Given the description of an element on the screen output the (x, y) to click on. 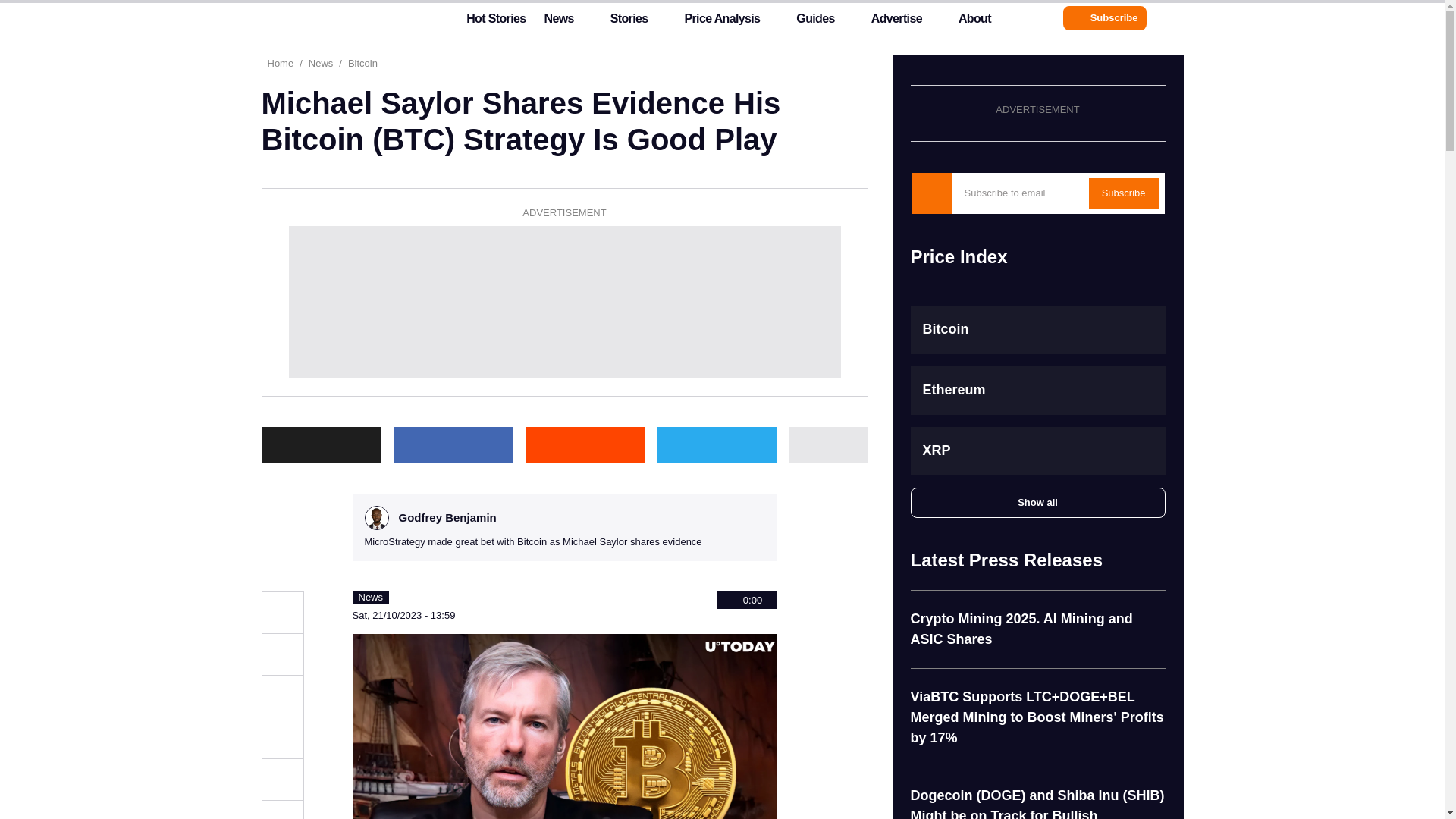
News (558, 22)
Hot Stories (486, 22)
U.Today logo (331, 17)
Share to Facebook (281, 695)
Share to Reddit (584, 444)
Share to Reddit (281, 737)
Share to X (320, 444)
Share to Telegram (281, 779)
Share to Telegram (716, 444)
Stories (628, 22)
